Given the description of an element on the screen output the (x, y) to click on. 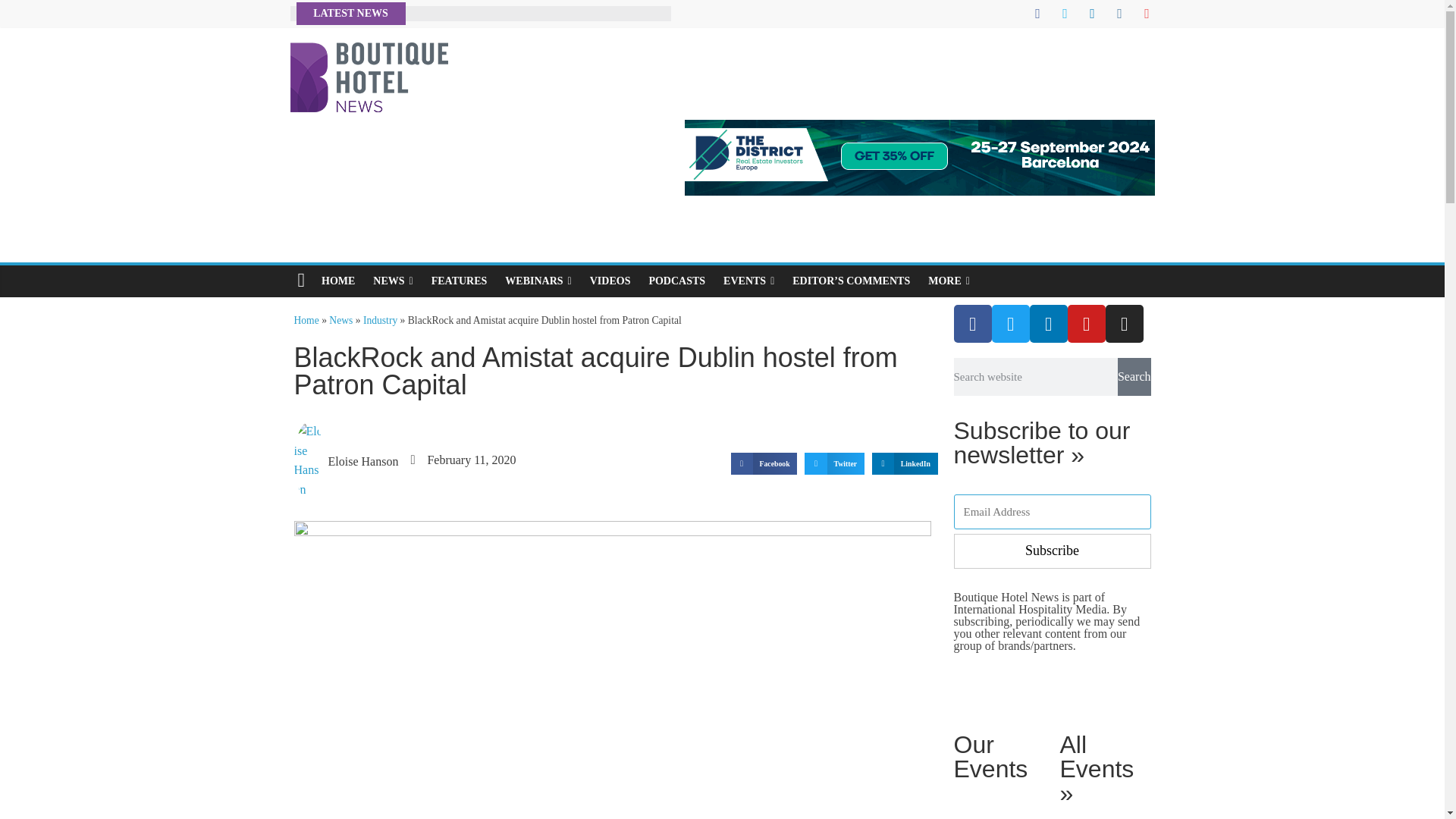
Subscribe (1052, 550)
NEWS (393, 281)
HOME (338, 281)
